Given the description of an element on the screen output the (x, y) to click on. 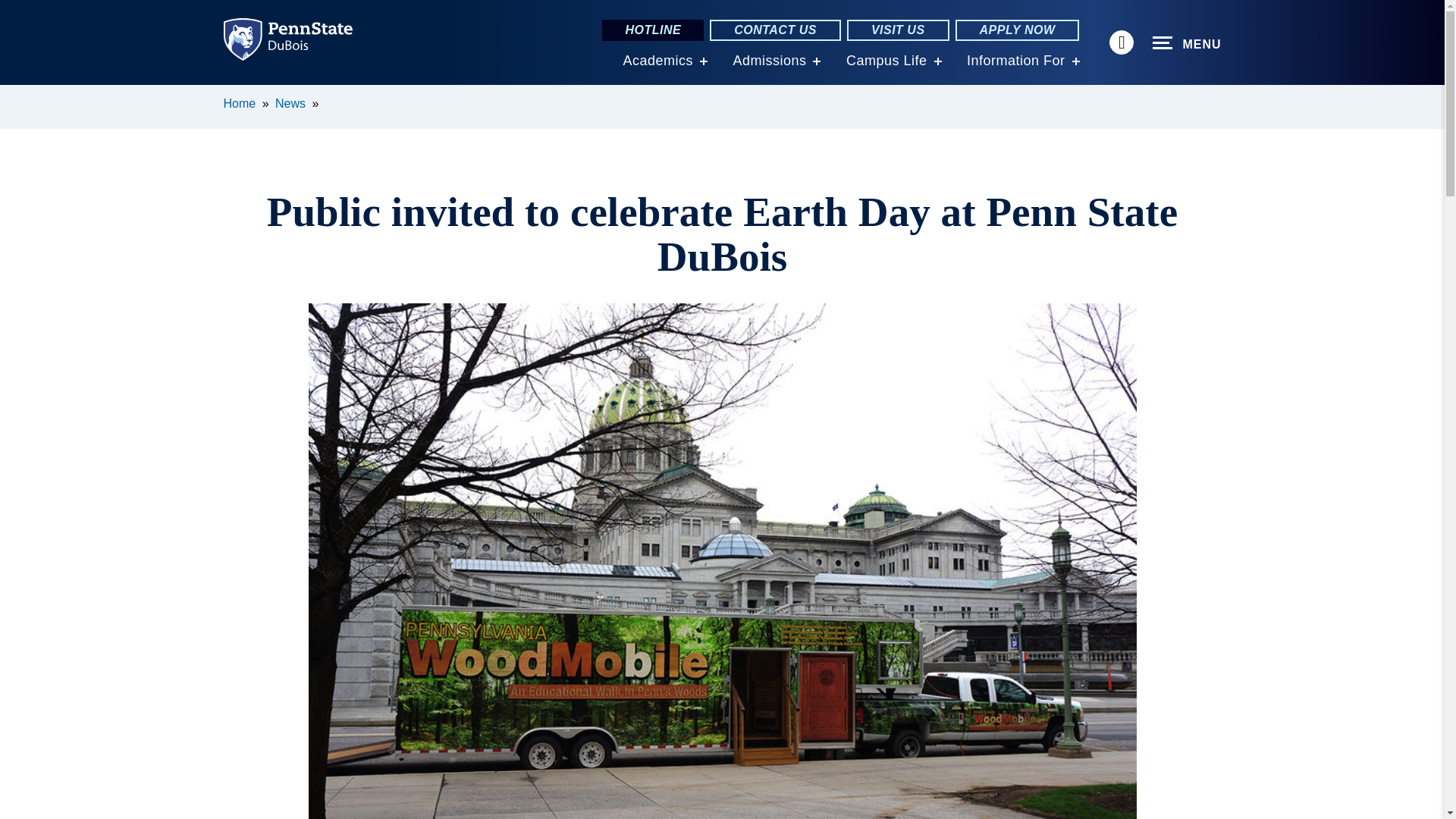
Campus Life (886, 60)
Academics (658, 60)
SKIP TO MAIN CONTENT (19, 95)
MENU (1187, 43)
Admissions (769, 60)
APPLY NOW (1017, 29)
CONTACT US (775, 29)
Information For (1015, 60)
HOTLINE (652, 29)
VISIT US (898, 29)
